Given the description of an element on the screen output the (x, y) to click on. 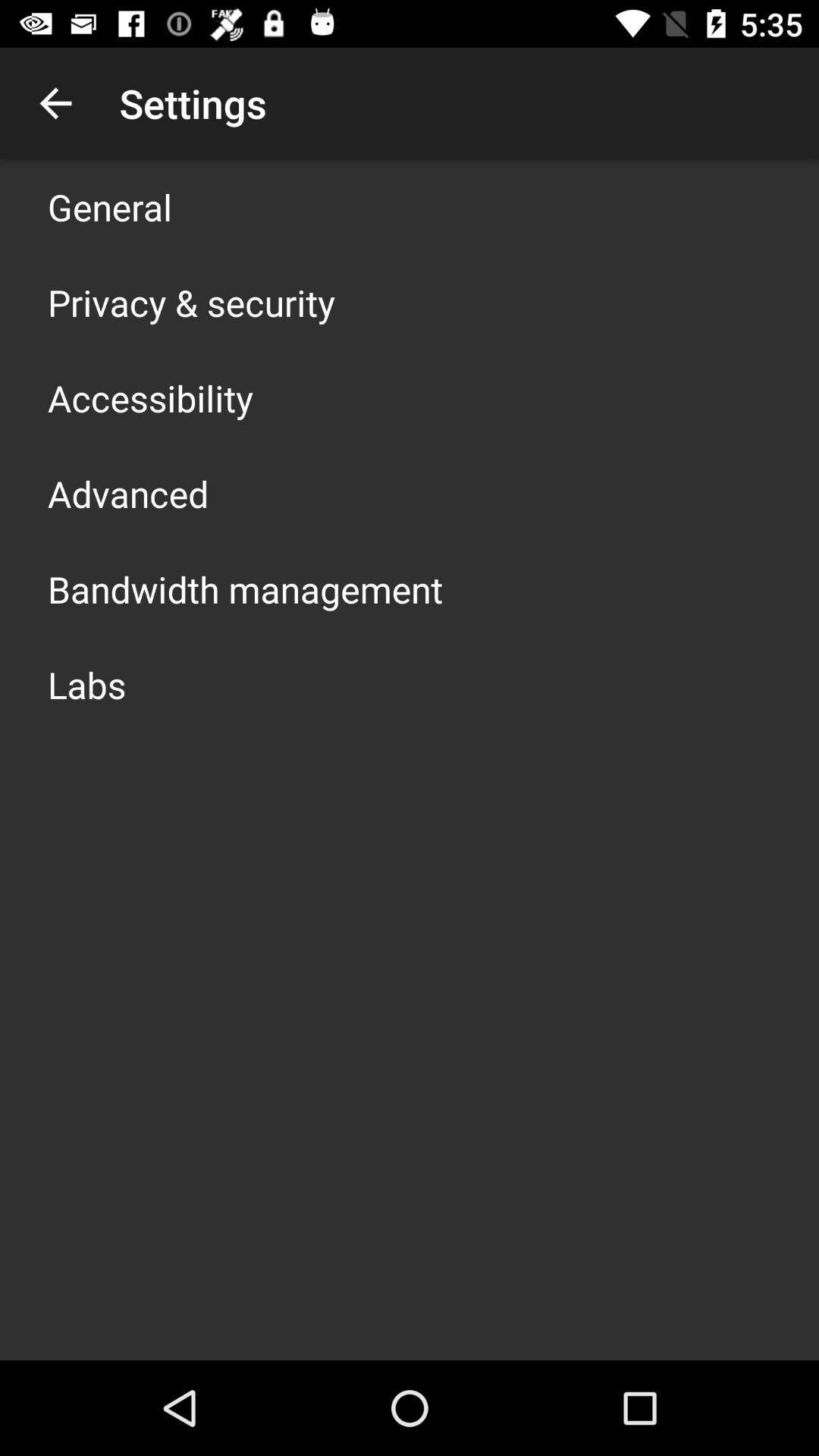
choose icon above general (55, 103)
